Given the description of an element on the screen output the (x, y) to click on. 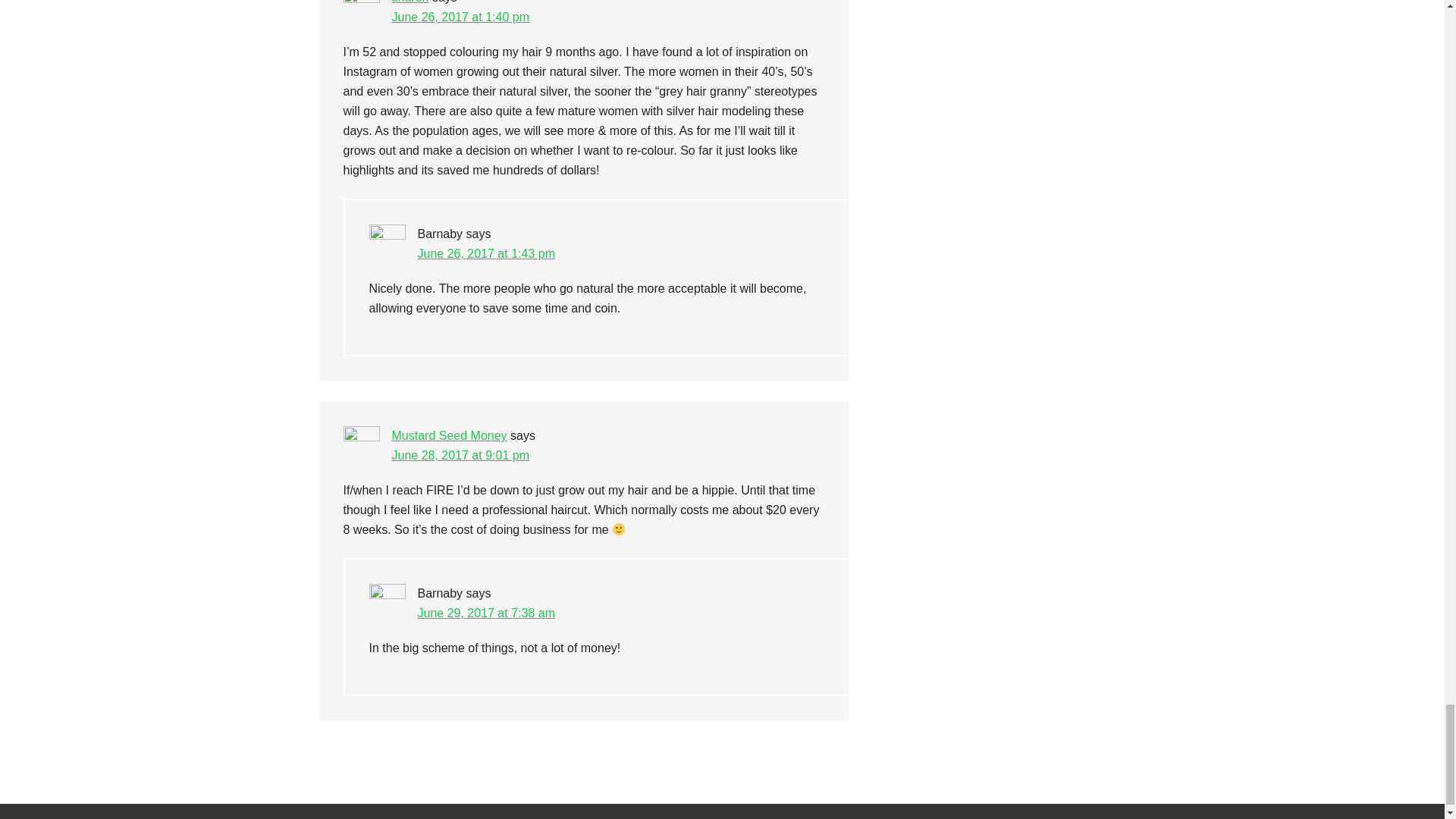
sharon (409, 2)
June 26, 2017 at 1:43 pm (485, 253)
June 26, 2017 at 1:40 pm (459, 16)
June 29, 2017 at 7:38 am (485, 612)
Mustard Seed Money (448, 435)
June 28, 2017 at 9:01 pm (459, 454)
